Given the description of an element on the screen output the (x, y) to click on. 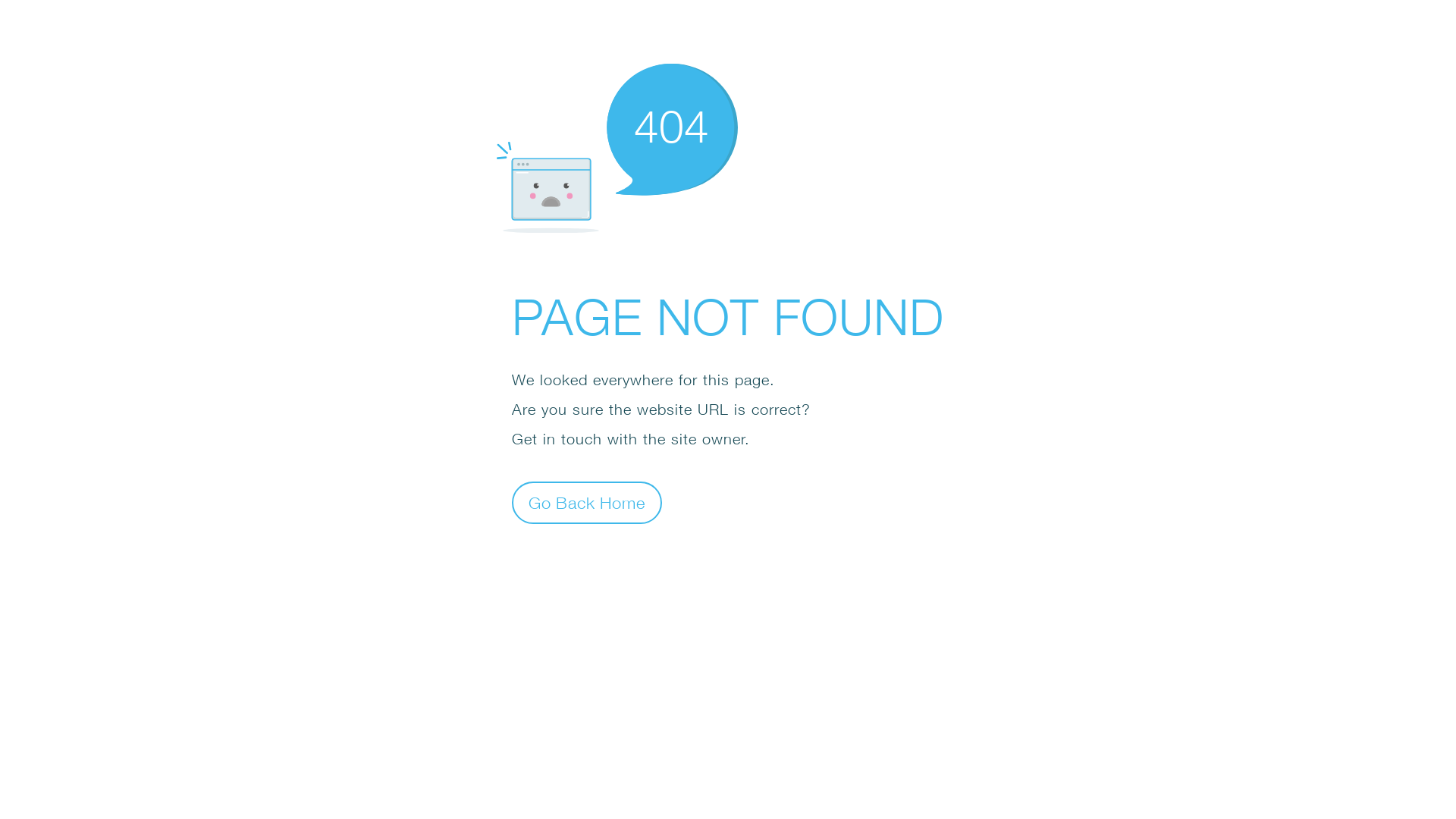
Go Back Home Element type: text (586, 502)
